Given the description of an element on the screen output the (x, y) to click on. 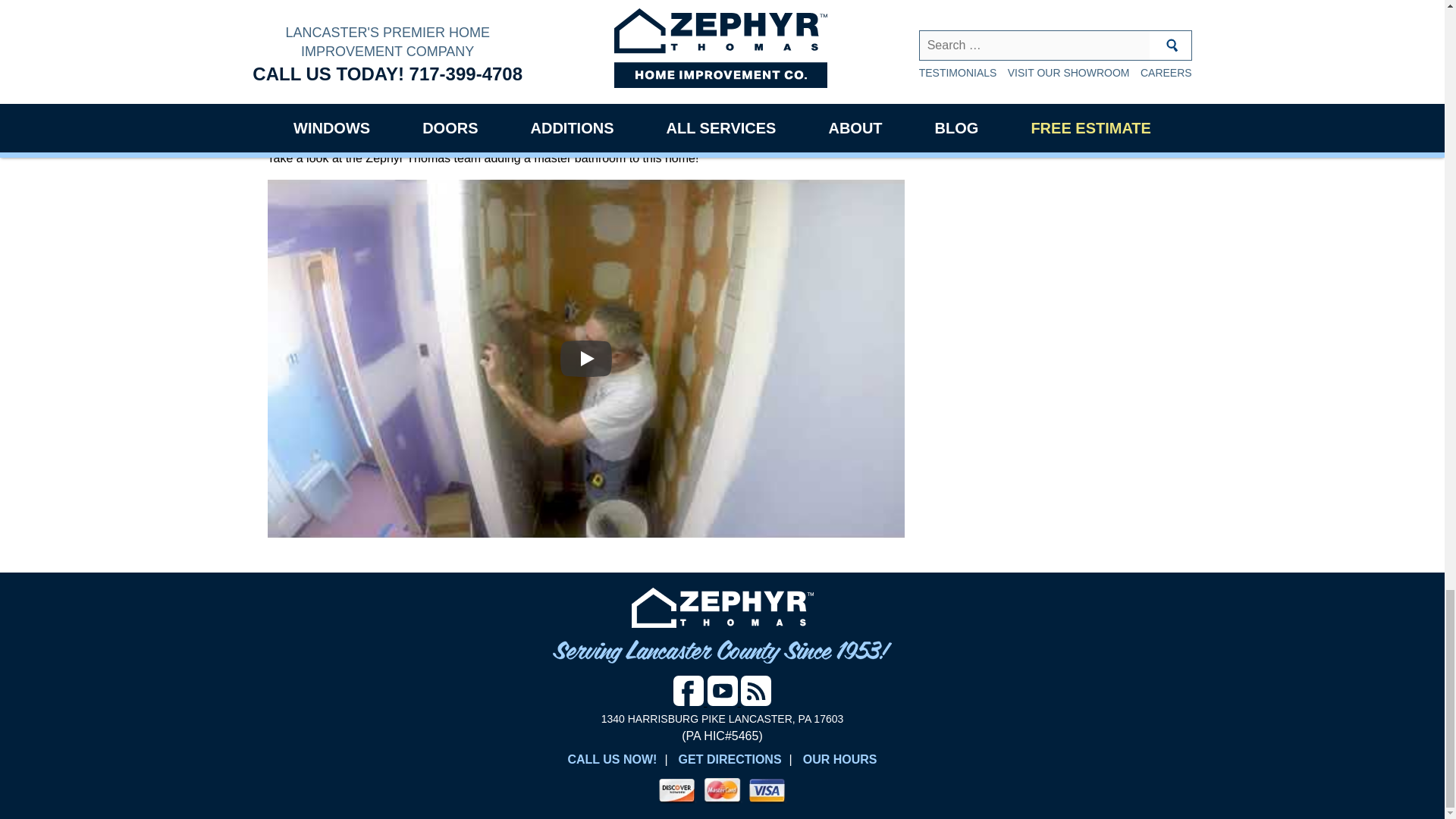
FACEBOOK (687, 690)
YOUTUBE2 (721, 690)
RSS (756, 690)
